Given the description of an element on the screen output the (x, y) to click on. 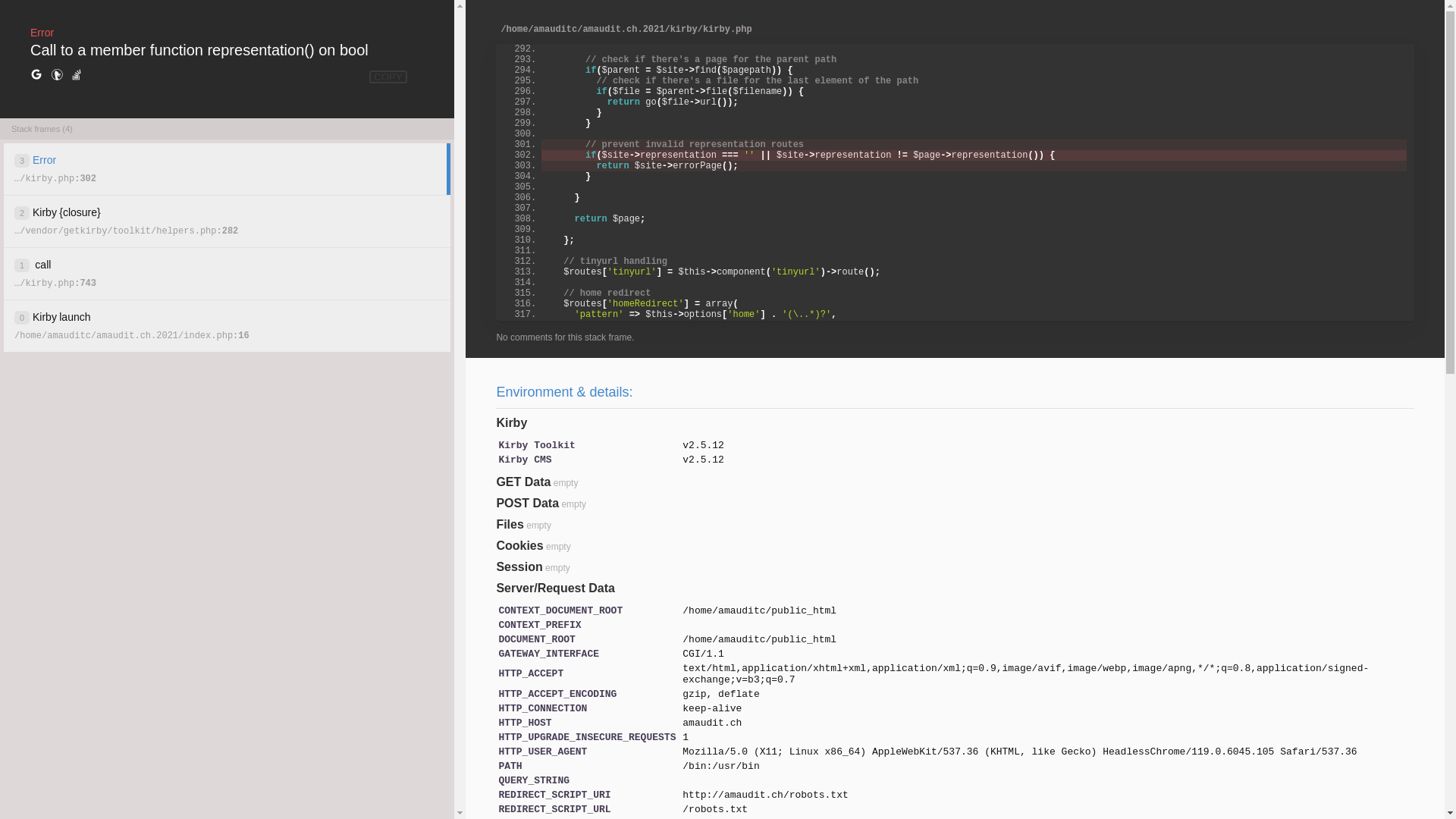
Search for help on Stack Overflow. Element type: hover (76, 74)
Search for help on Google. Element type: hover (36, 74)
Search for help on DuckDuckGo. Element type: hover (56, 74)
COPY Element type: text (388, 76)
